Given the description of an element on the screen output the (x, y) to click on. 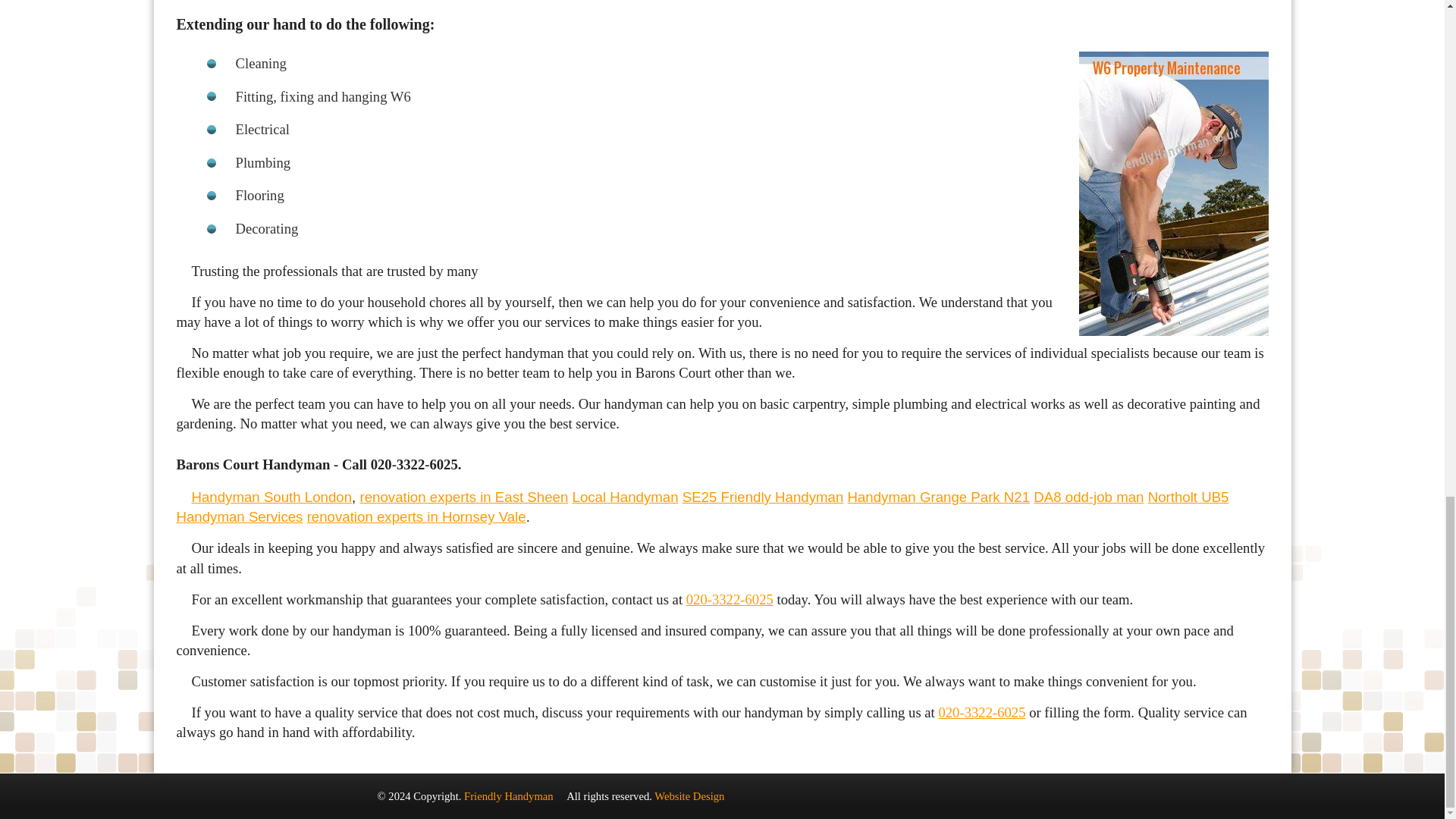
SE25 Friendly Handyman (763, 496)
DA8 odd-job man (1087, 496)
Submit (516, 218)
renovation experts in East Sheen (463, 496)
Handyman Grange Park N21 (938, 496)
Handyman South London (271, 496)
Local Handyman (625, 496)
DA8 odd-job man (1087, 496)
Handyman Grange Park N21 (938, 496)
020-3322-6025 (981, 712)
